Given the description of an element on the screen output the (x, y) to click on. 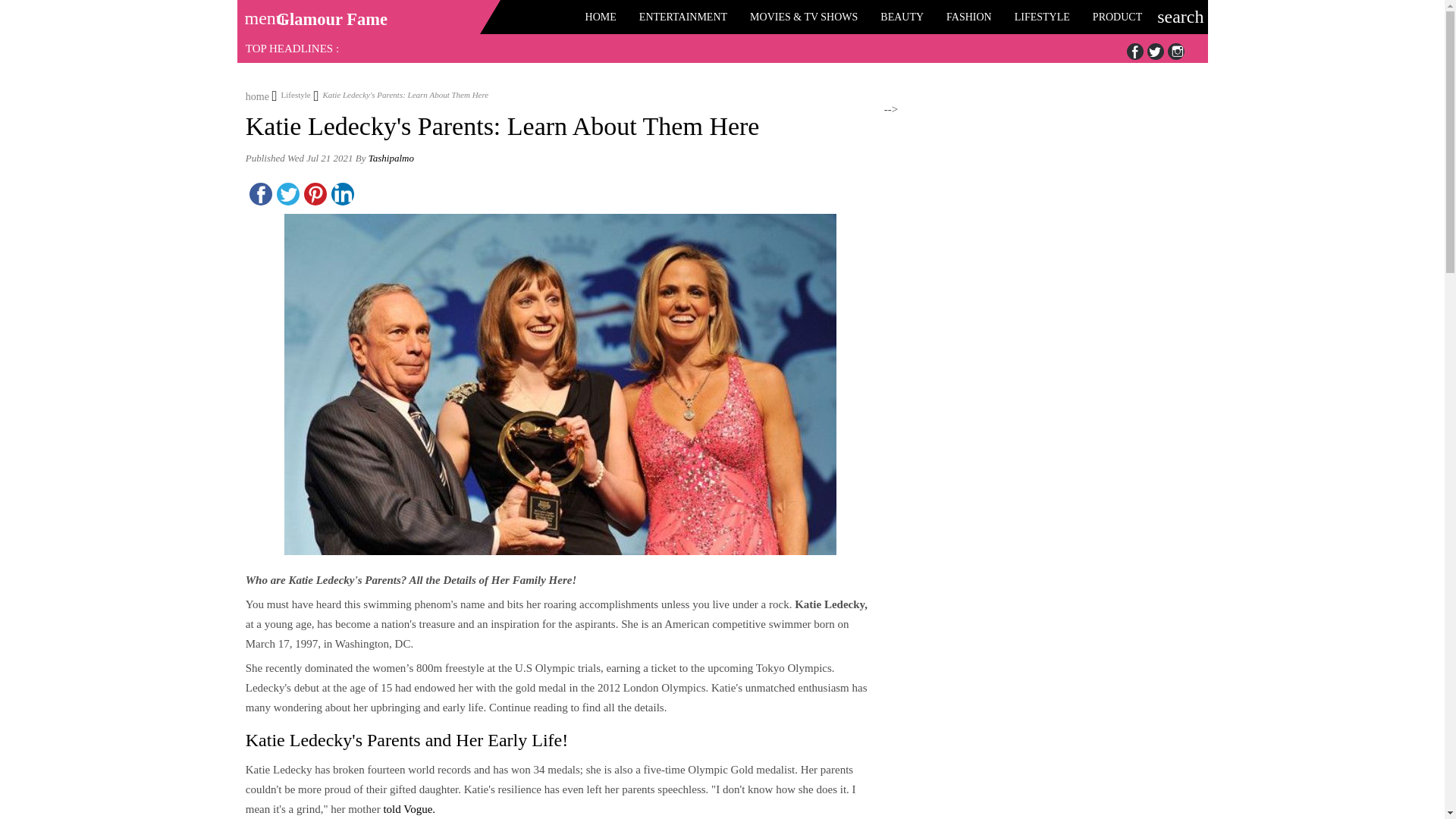
PRODUCT (1117, 17)
home (257, 94)
FASHION (968, 17)
menu (259, 13)
told Vogue. (407, 808)
BEAUTY (901, 17)
ENTERTAINMENT (682, 17)
HOME (600, 17)
LIFESTYLE (1042, 17)
Tashipalmo (390, 157)
Glamour Fame (331, 18)
Lifestyle (291, 94)
